Given the description of an element on the screen output the (x, y) to click on. 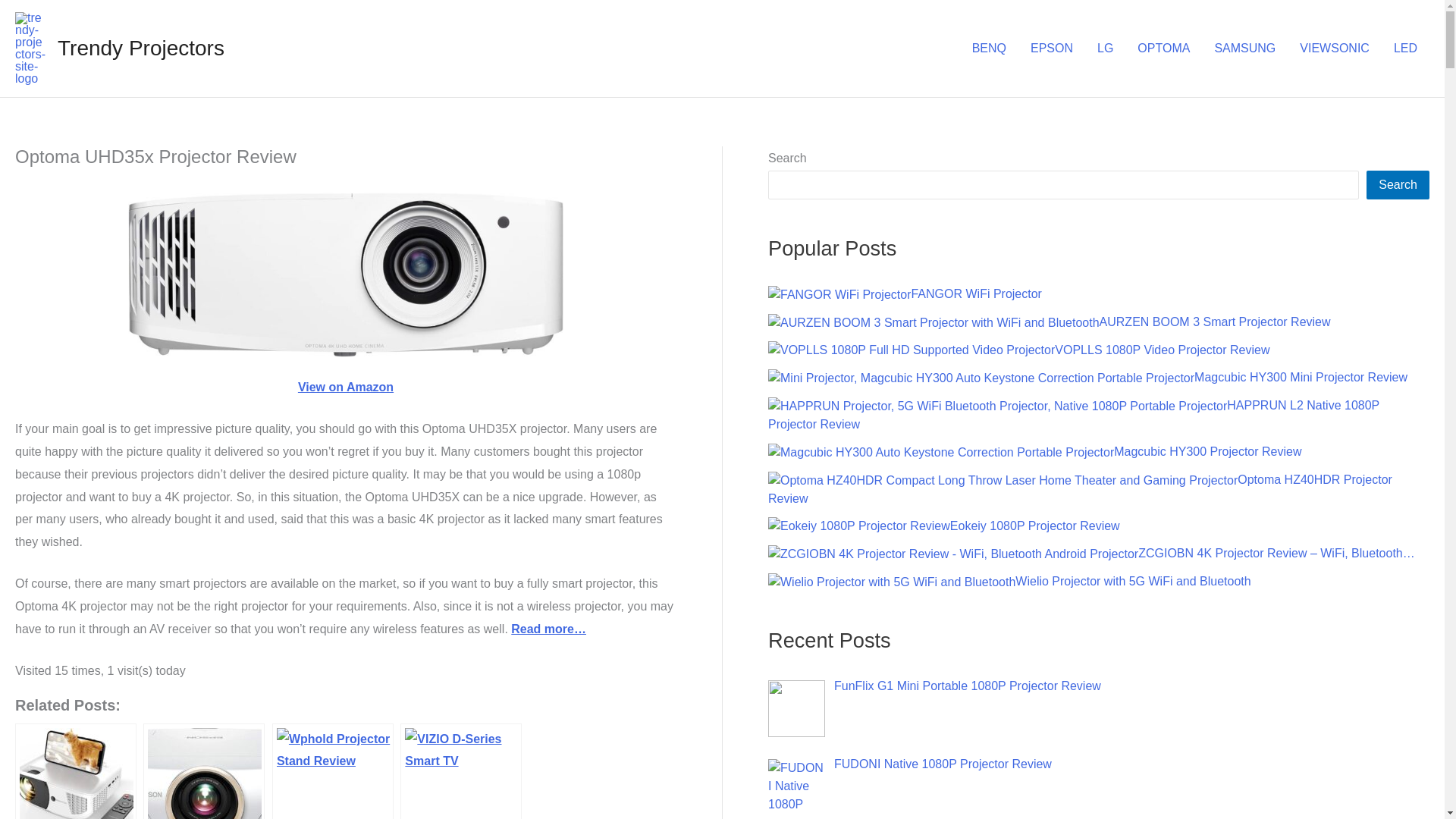
SAMSUNG (1244, 48)
Trendy Projectors (141, 47)
Magcubic HY300 Projector Review (940, 452)
HAPPRUN L2 Native 1080P Projector Review (997, 406)
Magcubic HY300 Mini Projector Review (980, 378)
VOPLLS 1080P Video Projector Review (911, 350)
VIZIO D-Series Smart TV (460, 771)
Eokeiy 1080P Projector Review (859, 525)
VIEWSONIC (1334, 48)
VIZIO D-Series Smart TV (460, 771)
OPTOMA (1163, 48)
AURZEN BOOM 3 Smart Projector Review (933, 322)
BENQ (988, 48)
EPSON (1050, 48)
FANGOR WiFi Projector (839, 294)
